Given the description of an element on the screen output the (x, y) to click on. 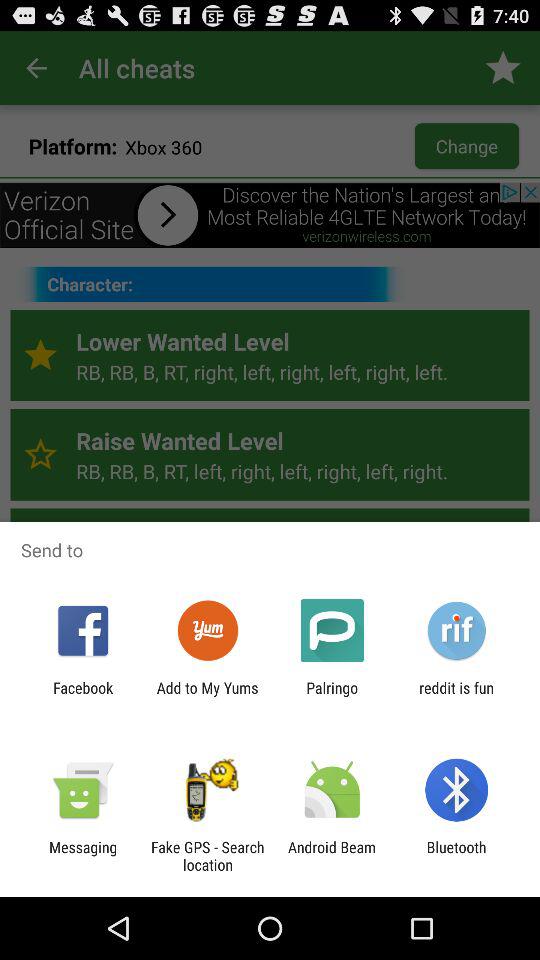
select the app to the right of messaging app (207, 856)
